Given the description of an element on the screen output the (x, y) to click on. 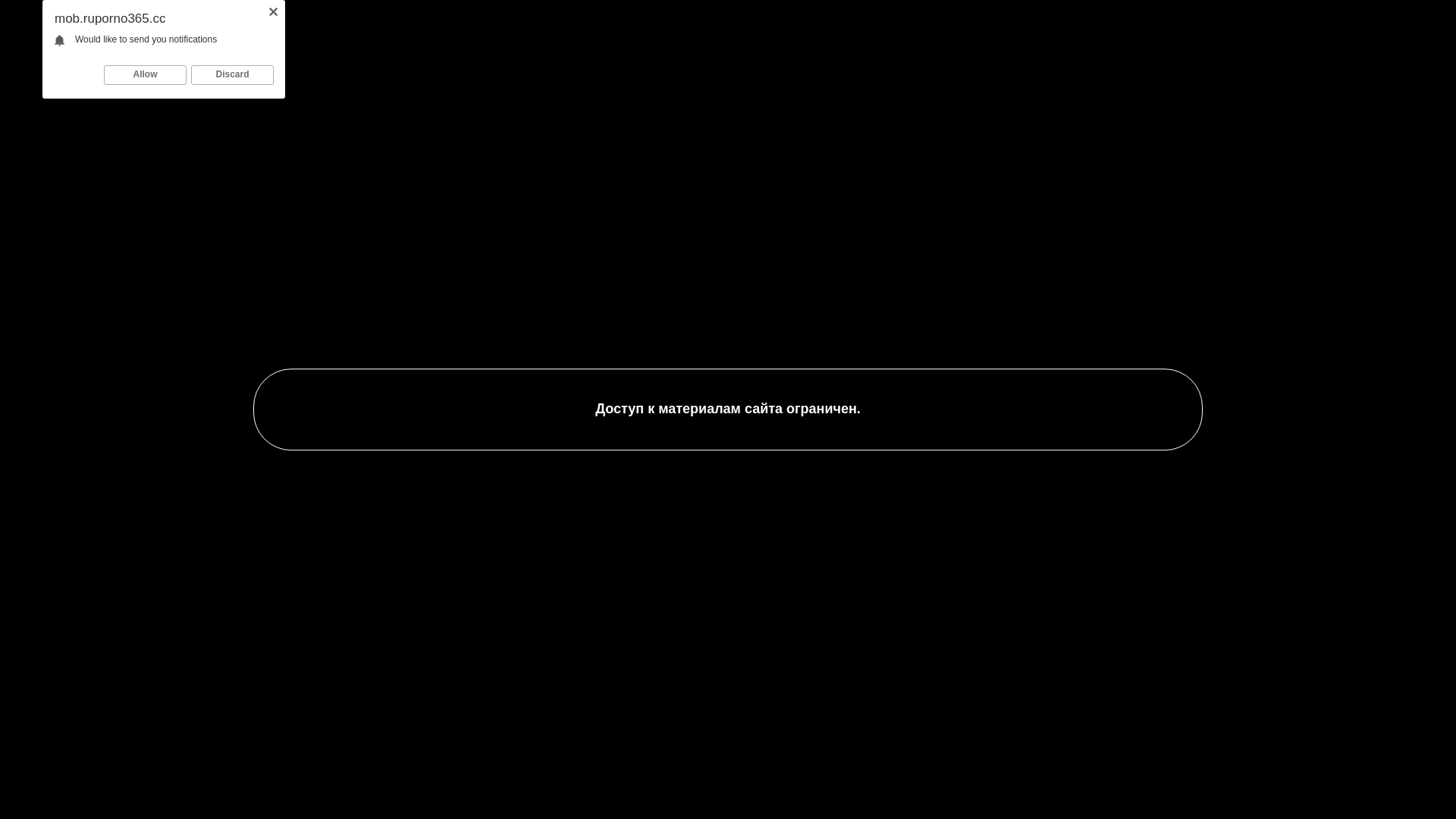
[44%] Element type: text (811, 432)
